Given the description of an element on the screen output the (x, y) to click on. 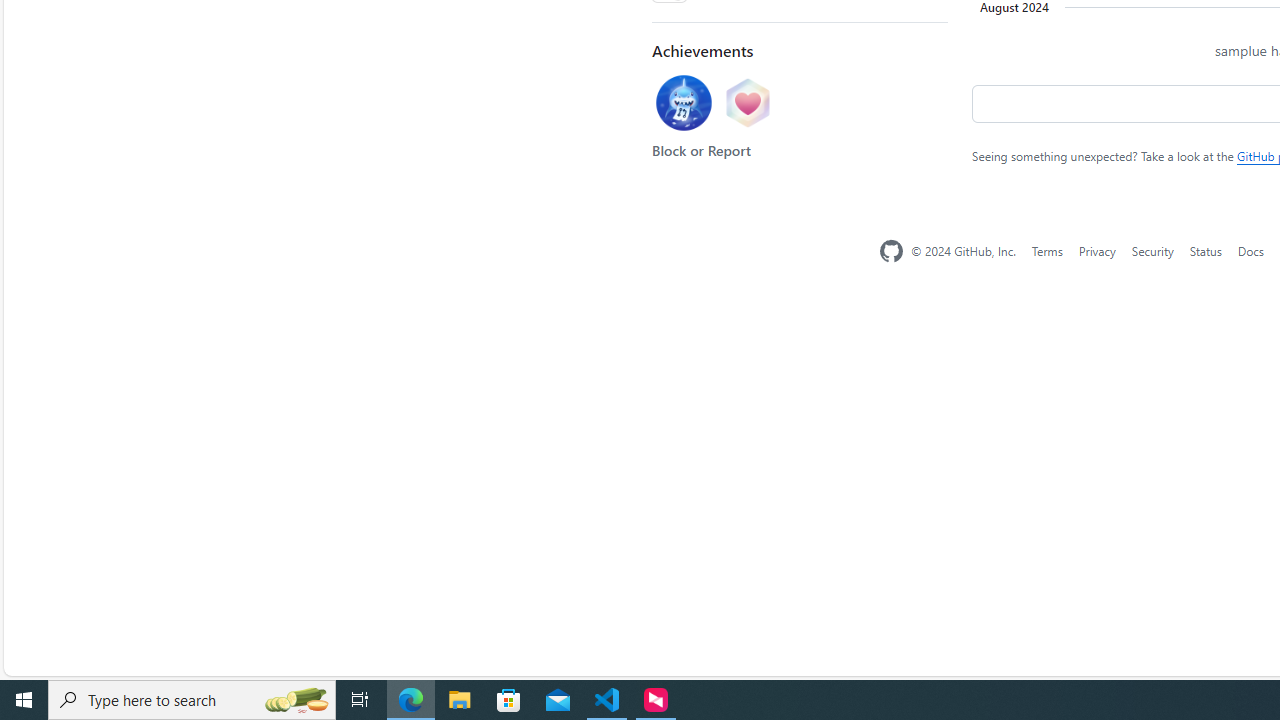
Status (1205, 251)
Status (1205, 250)
Security (1152, 251)
Terms (1046, 250)
Achievement: Pull Shark (683, 105)
Docs (1250, 250)
Achievements (702, 50)
Achievement: Pull Shark (683, 103)
Privacy (1096, 250)
Terms (1046, 251)
Privacy (1096, 251)
Block or Report (701, 151)
Docs (1250, 251)
Achievement: Public Sponsor (747, 105)
Achievement: Public Sponsor (747, 103)
